Given the description of an element on the screen output the (x, y) to click on. 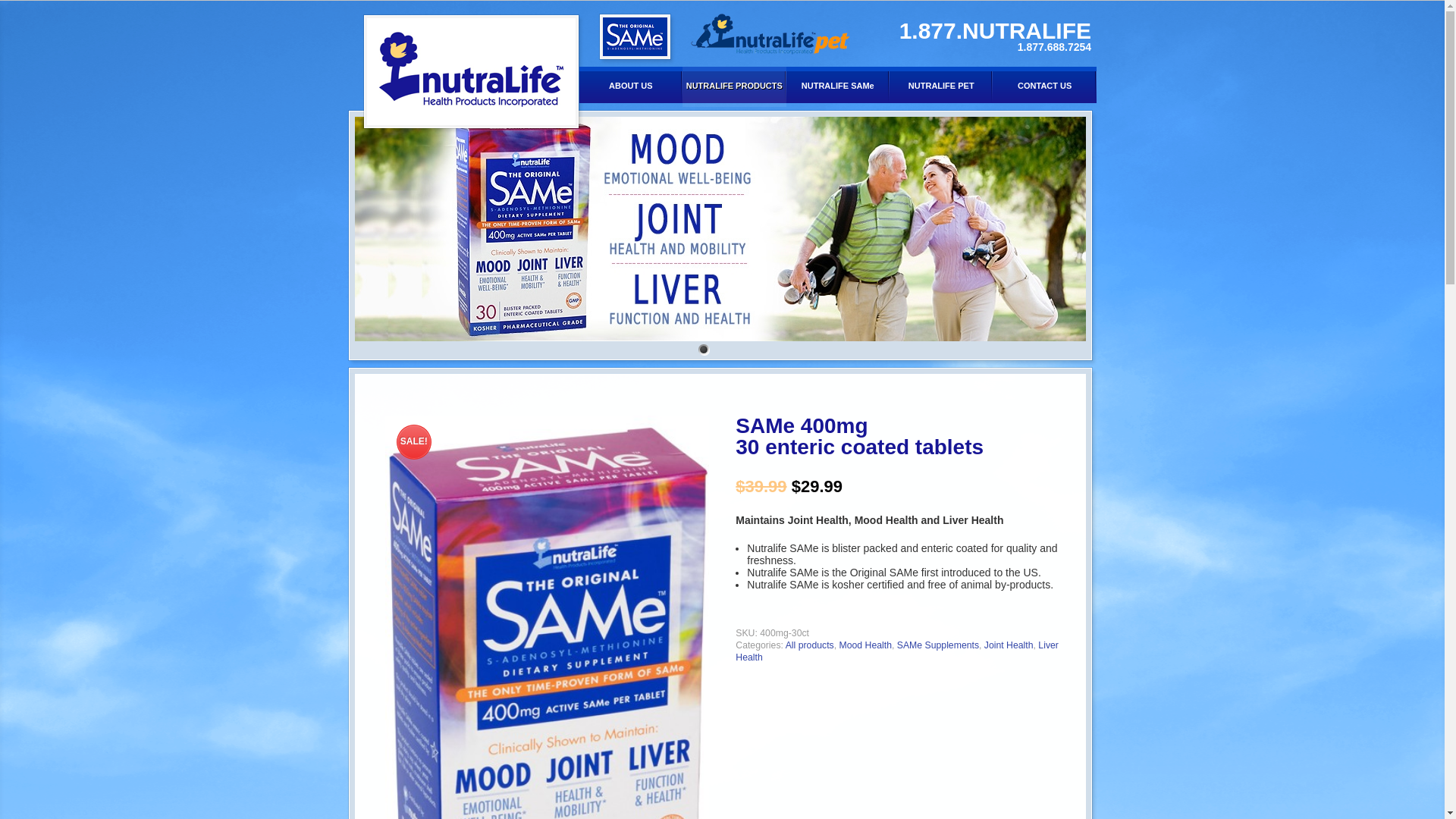
CONTACT US (1044, 86)
SAMe Supplements (937, 644)
Joint Health (1008, 644)
NUTRALIFE PRODUCTS (734, 86)
Liver Health (896, 650)
Mood Health (864, 644)
All products (810, 644)
ABOUT US (630, 86)
NUTRALIFE PET (940, 86)
1 (704, 349)
NUTRALIFE SAMe (837, 86)
